Given the description of an element on the screen output the (x, y) to click on. 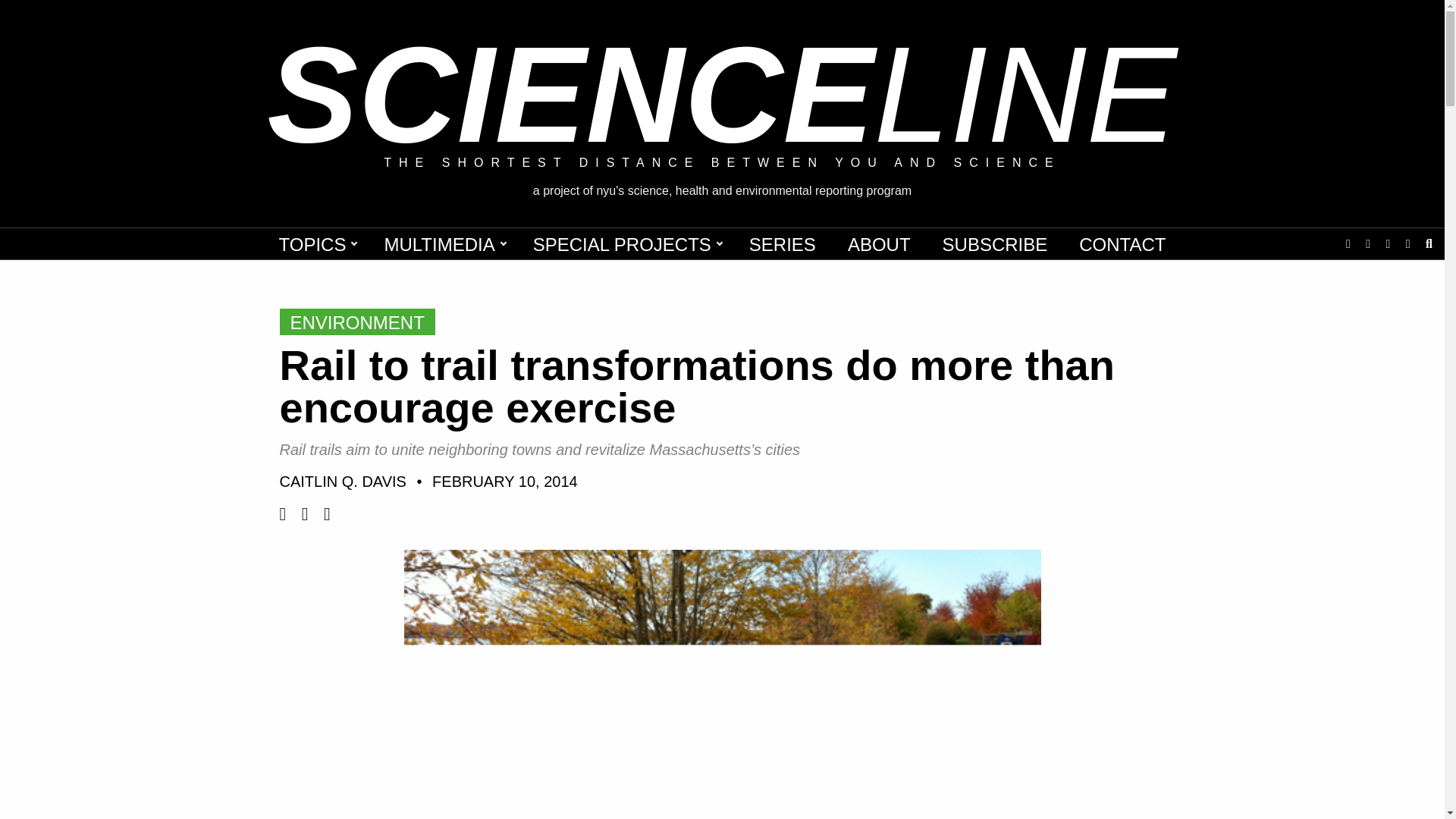
SERIES (782, 243)
Posts by Caitlin Q. Davis (342, 481)
CAITLIN Q. DAVIS (342, 481)
ABOUT (879, 243)
CONTACT (1122, 243)
SUBSCRIBE (994, 243)
ENVIRONMENT (356, 321)
MULTIMEDIA (441, 243)
